Given the description of an element on the screen output the (x, y) to click on. 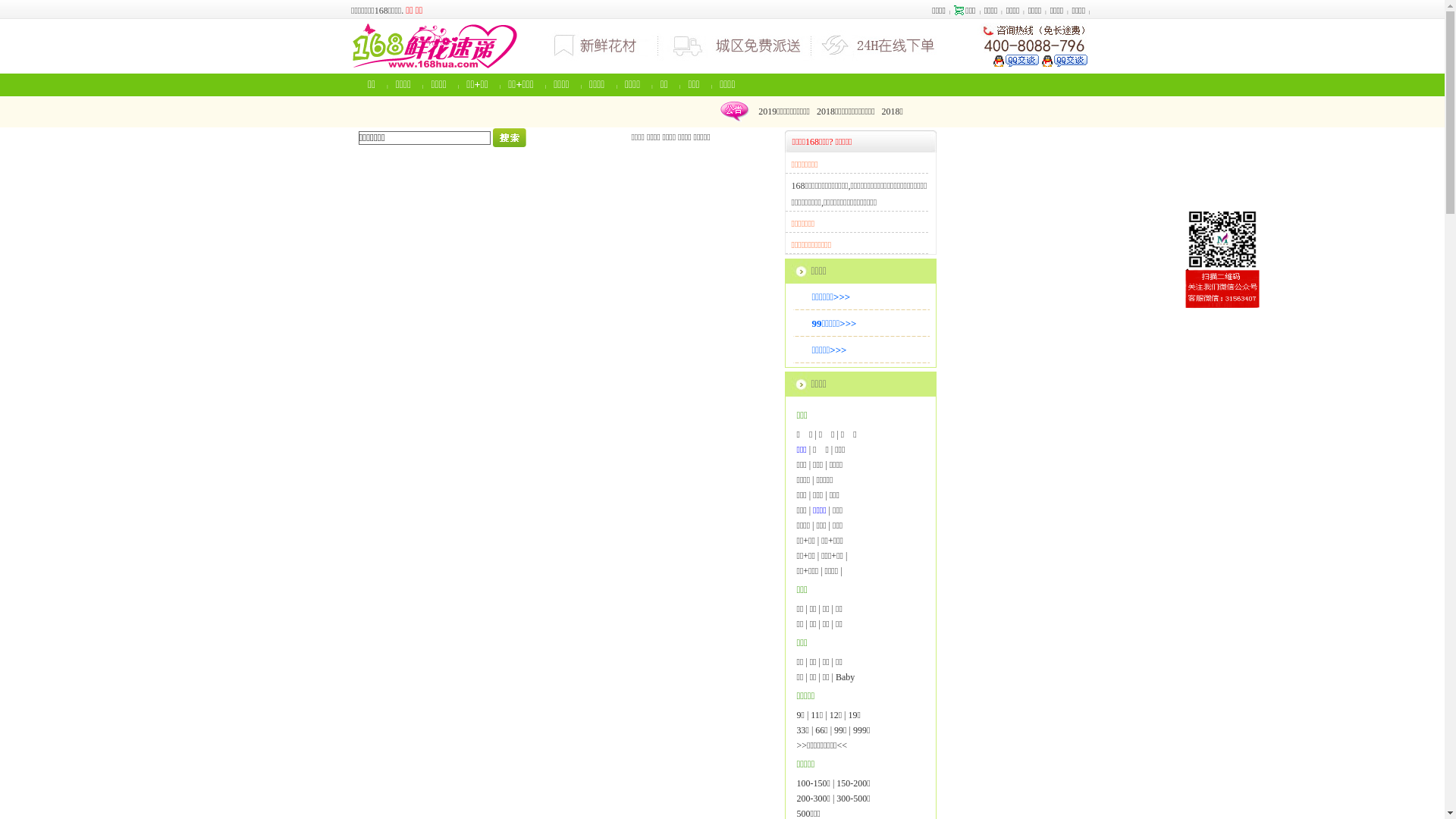
Baby Element type: text (844, 676)
